Given the description of an element on the screen output the (x, y) to click on. 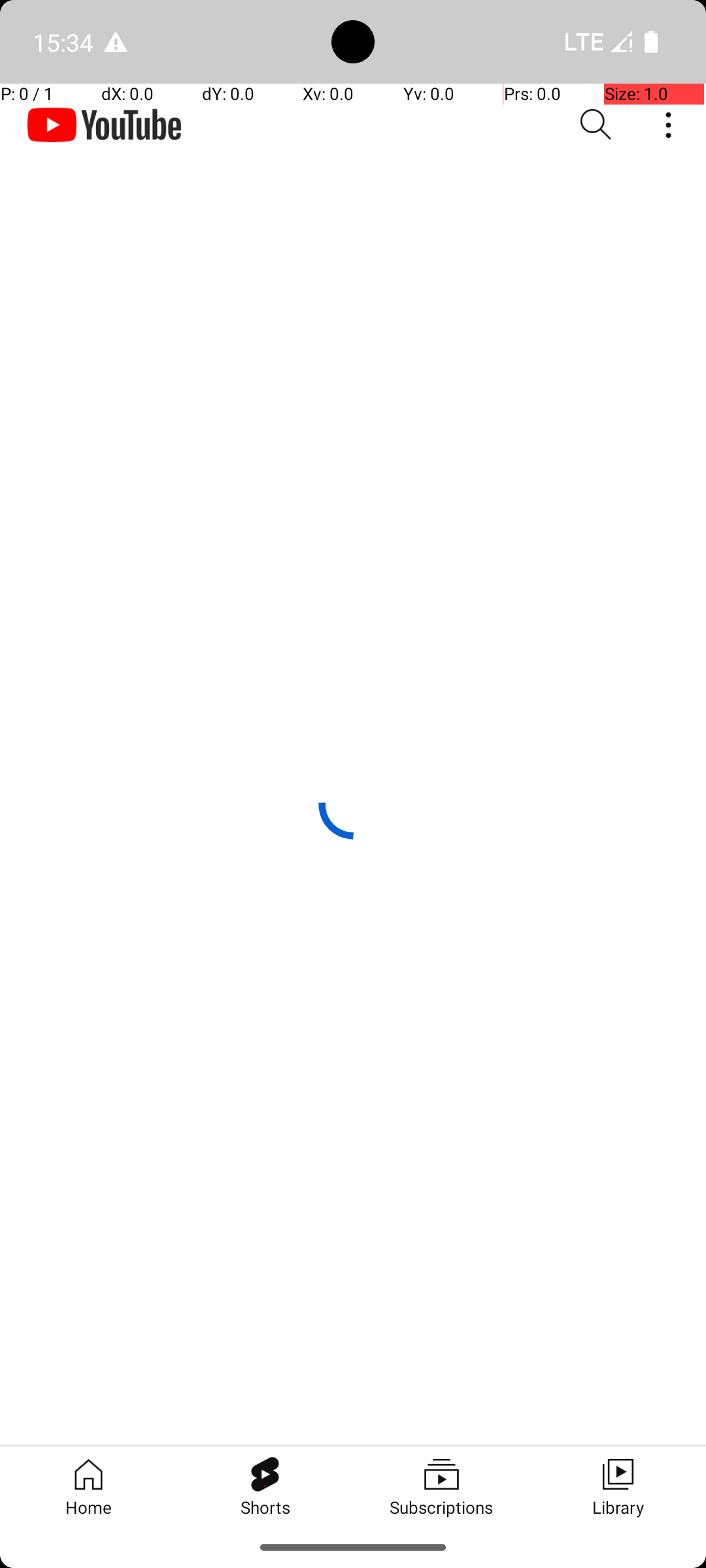
Shorts Element type: android.widget.Button (264, 1485)
Subscriptions Element type: android.widget.Button (441, 1485)
Library Element type: android.widget.Button (617, 1485)
